Given the description of an element on the screen output the (x, y) to click on. 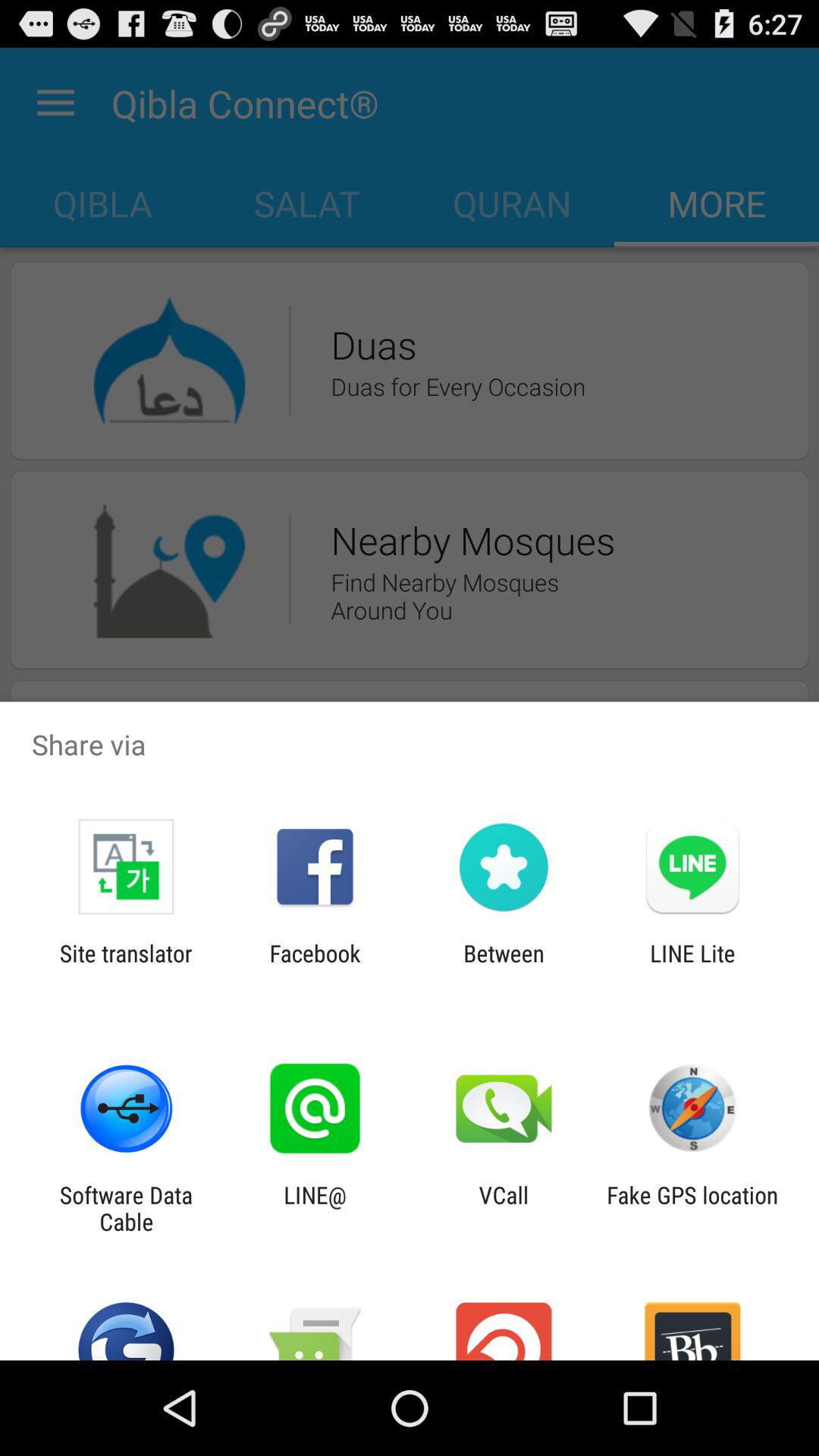
jump until site translator (125, 966)
